Given the description of an element on the screen output the (x, y) to click on. 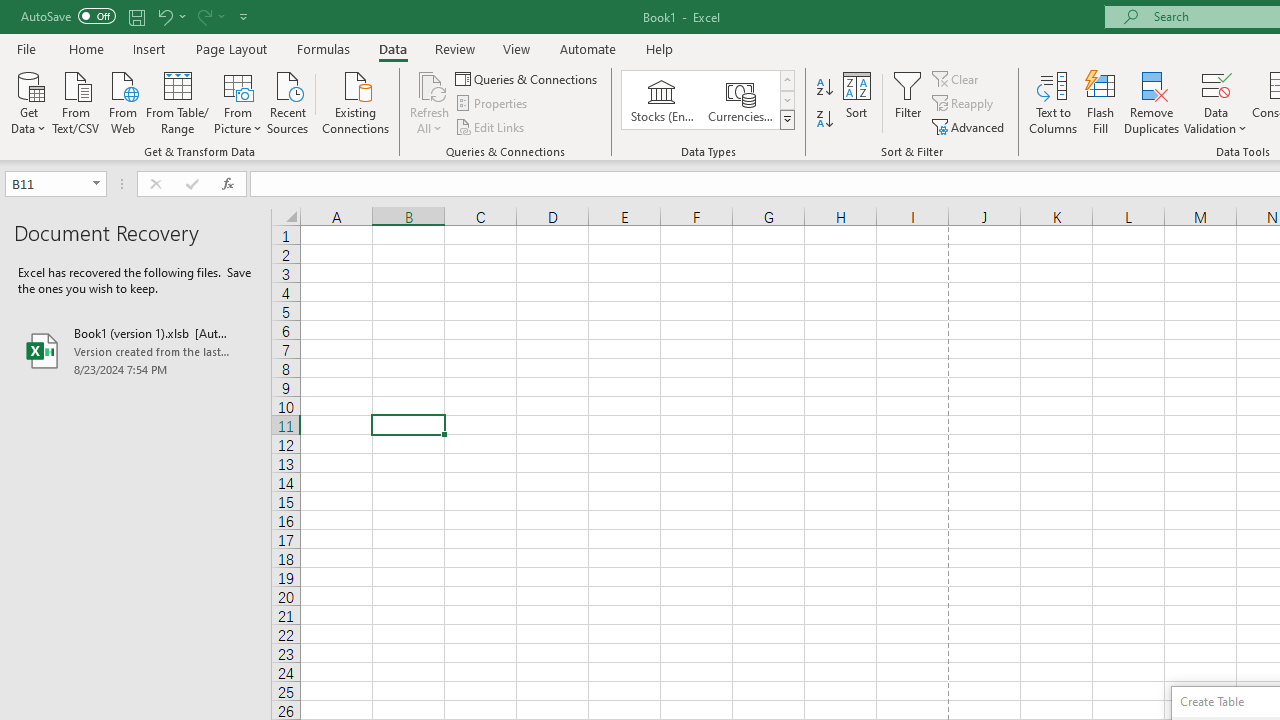
Data Validation... (1215, 102)
Review (454, 48)
Advanced... (970, 126)
Queries & Connections (527, 78)
Automate (588, 48)
Sort Z to A (824, 119)
Page Layout (230, 48)
Filter (908, 102)
System (10, 11)
Home (86, 48)
Sort A to Z (824, 87)
Sort... (856, 102)
